Given the description of an element on the screen output the (x, y) to click on. 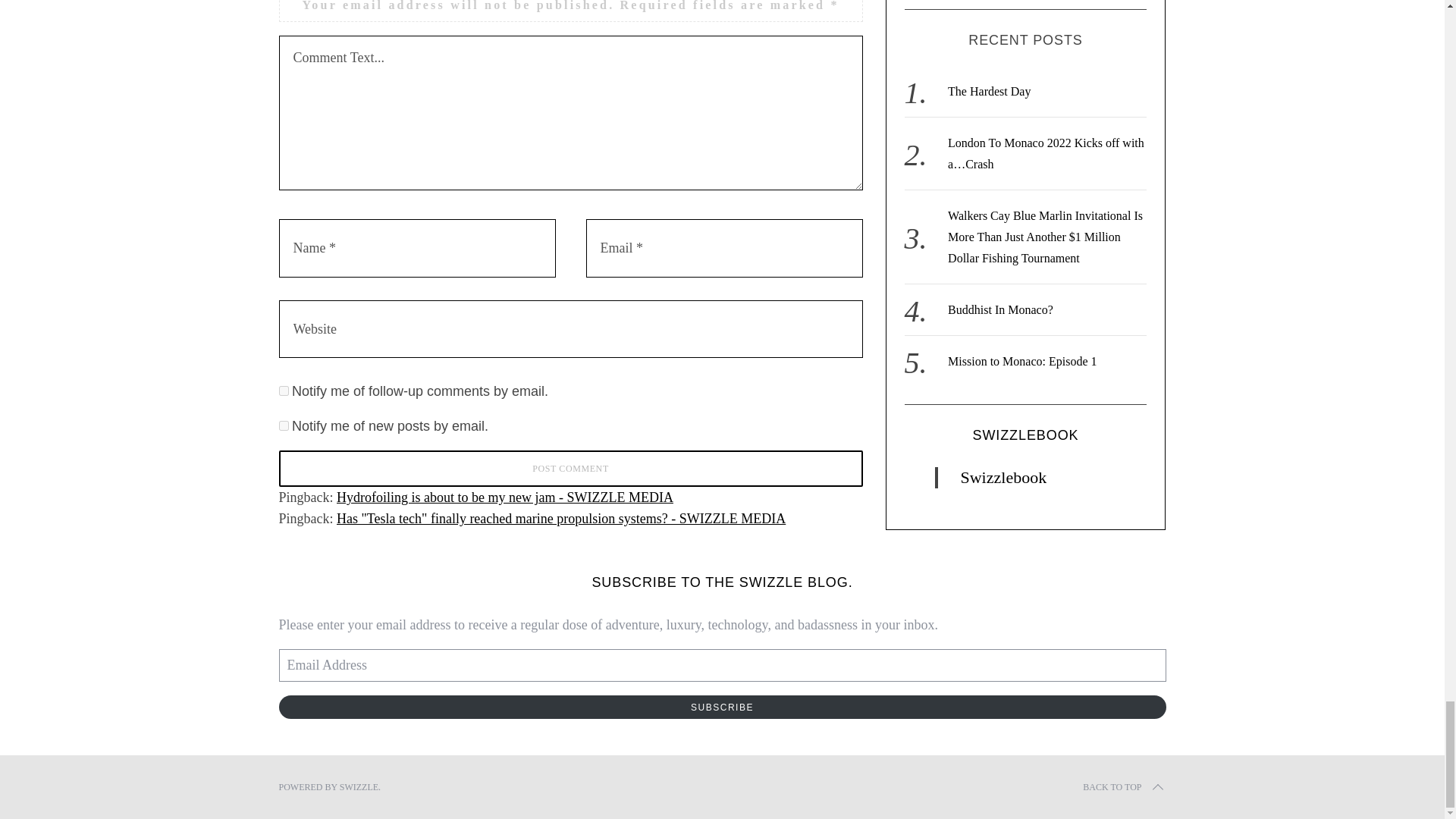
subscribe (283, 425)
Post Comment (571, 468)
subscribe (283, 390)
